Given the description of an element on the screen output the (x, y) to click on. 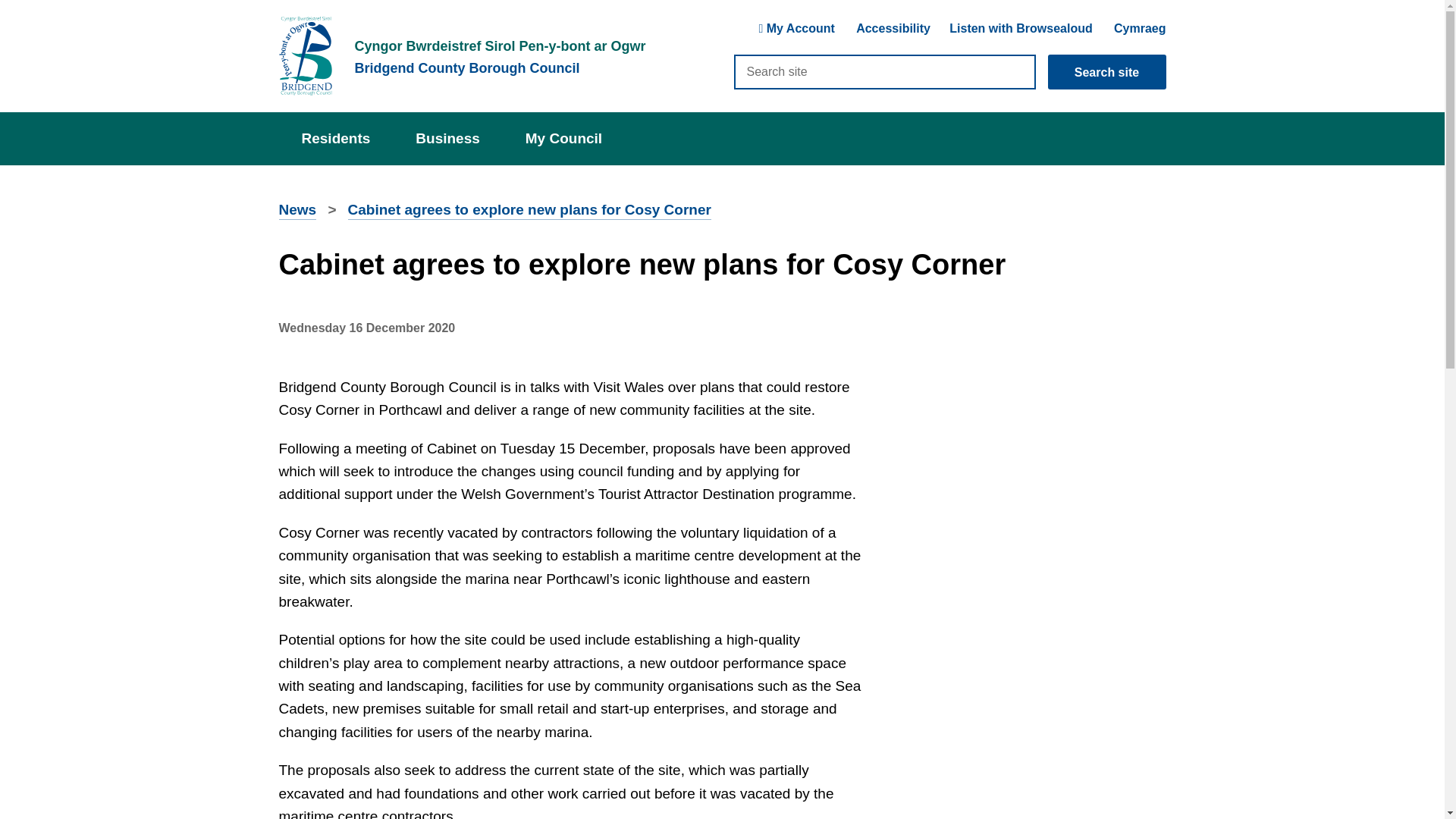
News (298, 210)
Cabinet agrees to explore new plans for Cosy Corner (529, 210)
Cymraeg (1139, 29)
Search site (884, 71)
Listen with Browsealoud (1020, 29)
Search site (1107, 71)
Residents (336, 138)
News (298, 210)
My Council (563, 138)
Accessibility (893, 29)
Business (447, 138)
Residents (336, 138)
Cymraeg (1139, 29)
Cabinet agrees to explore new plans for Cosy Corner (529, 210)
